Given the description of an element on the screen output the (x, y) to click on. 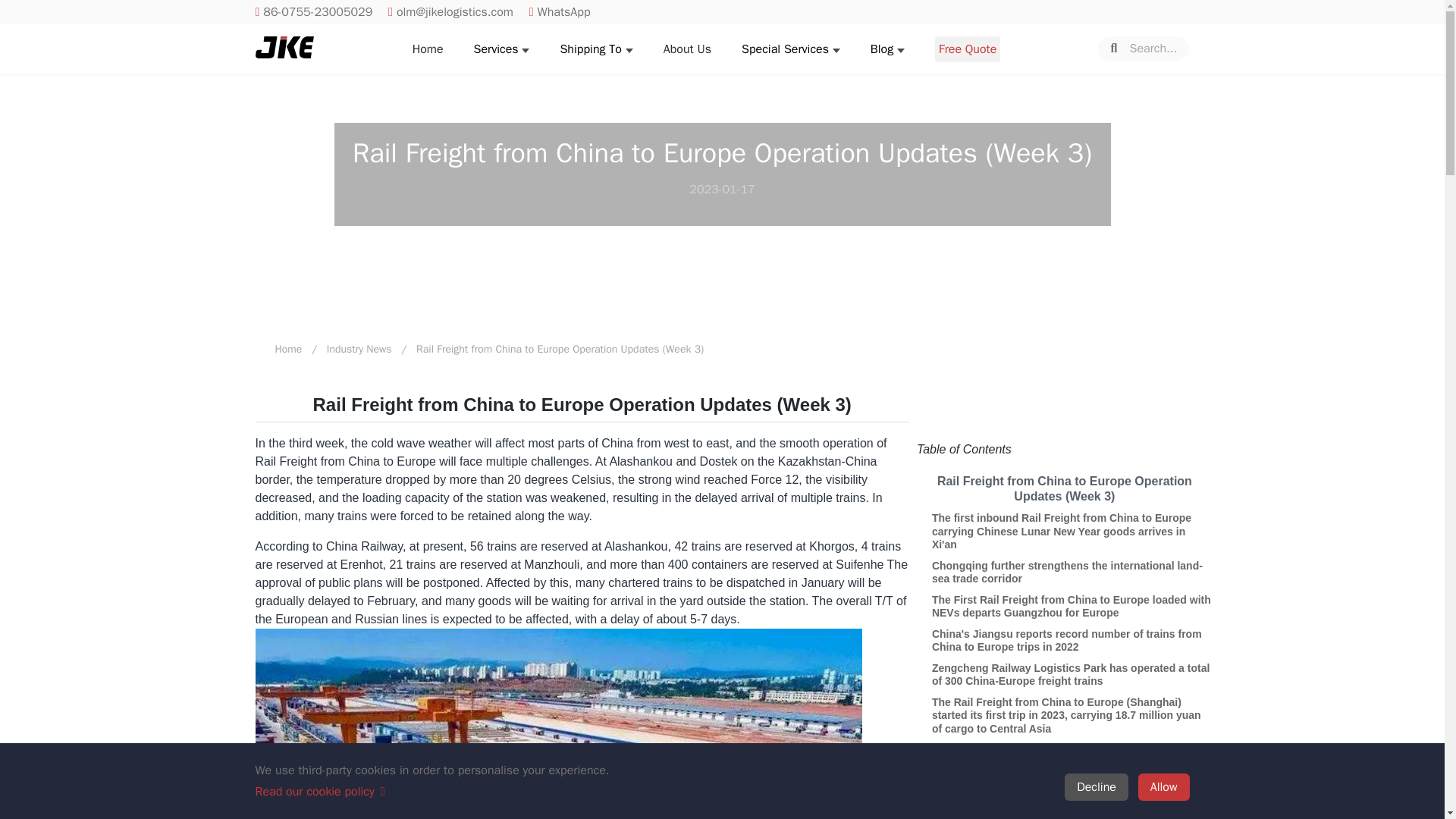
Home (428, 49)
WhatsApp (560, 11)
Shipping To (590, 48)
Services (496, 48)
86-0755-23005029 (313, 11)
